Given the description of an element on the screen output the (x, y) to click on. 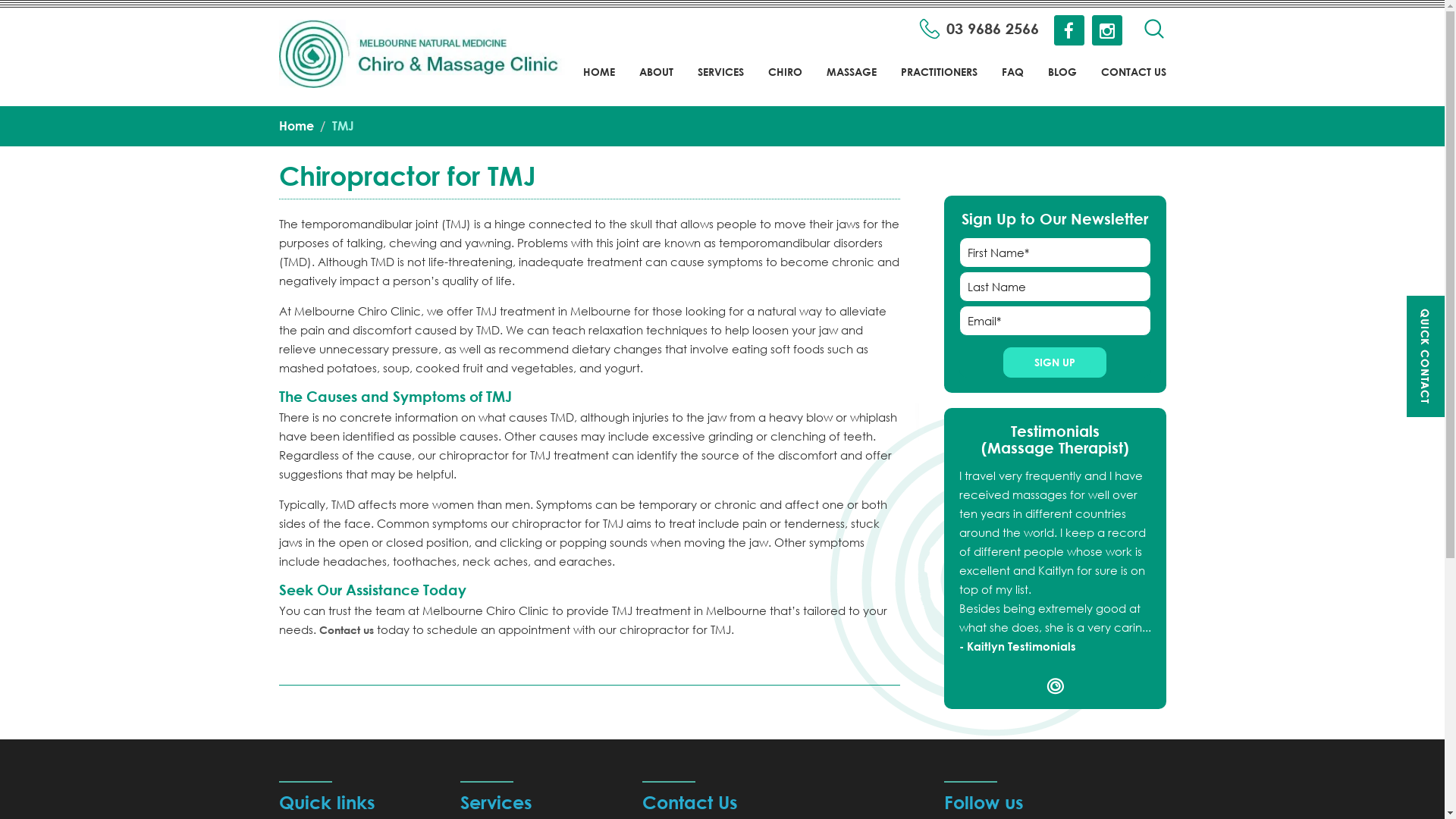
03 9686 2566 Element type: text (978, 28)
MASSAGE Element type: text (851, 82)
Email* Element type: hover (1055, 320)
1 Element type: text (1054, 685)
Facebook Element type: hover (1069, 33)
Home Element type: text (296, 125)
BLOG Element type: text (1062, 82)
First Name* Element type: hover (1055, 252)
PRACTITIONERS Element type: text (938, 82)
HOME Element type: text (598, 82)
CONTACT US Element type: text (1133, 82)
SIGN UP Element type: text (1054, 362)
Chiro and Massage Clinic Melbourne Element type: hover (426, 53)
Chiro and Massage Clinic Melbourne Element type: hover (426, 53)
FAQ Element type: text (1011, 82)
SERVICES Element type: text (720, 82)
CHIRO Element type: text (784, 82)
Last Name Element type: hover (1055, 286)
Instagram Element type: hover (1107, 33)
ABOUT Element type: text (655, 82)
Contact us Element type: text (345, 629)
